Given the description of an element on the screen output the (x, y) to click on. 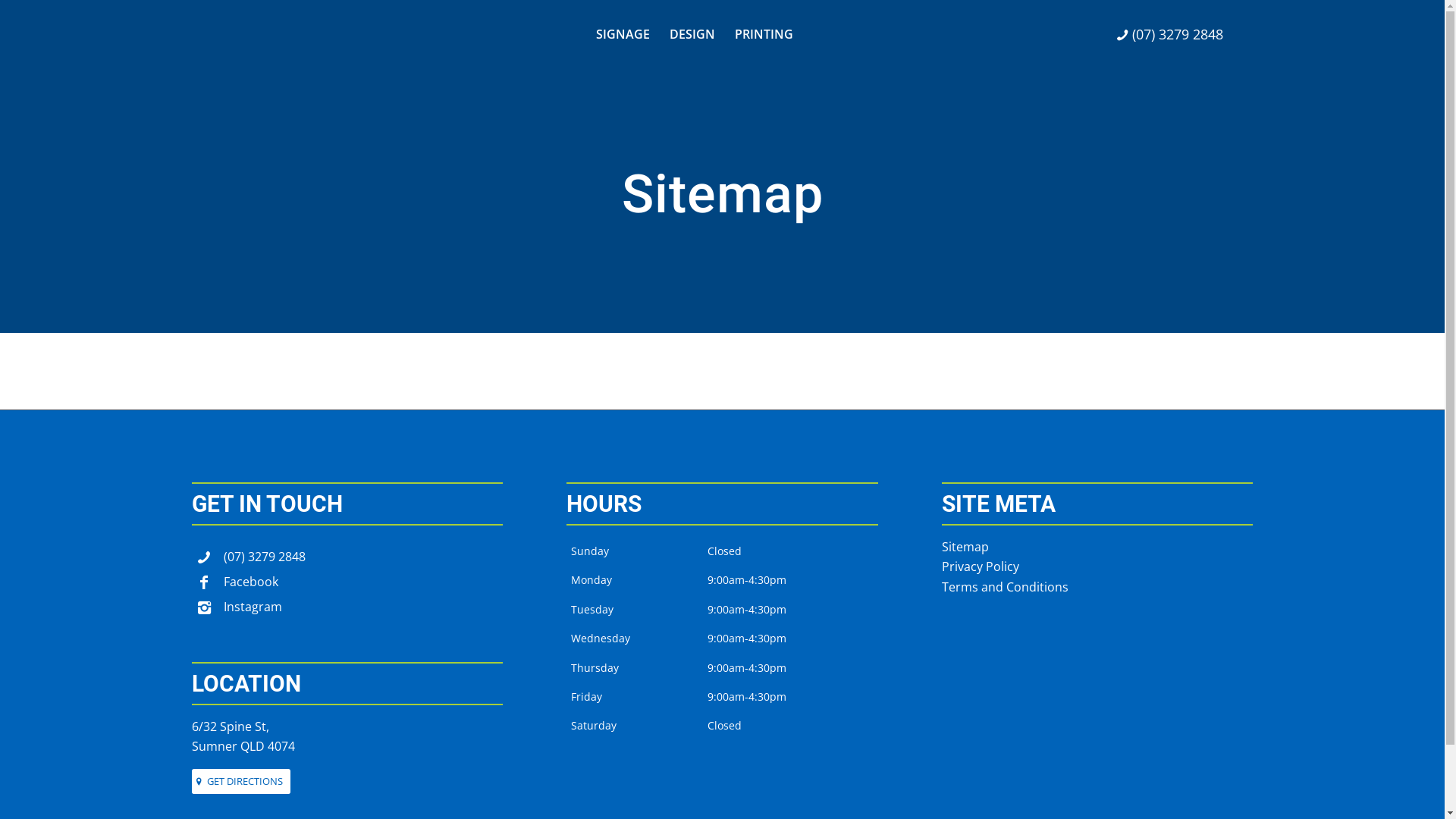
Facebook Element type: hover (203, 584)
Instagram Element type: hover (203, 609)
DESIGN Element type: text (691, 33)
GET DIRECTIONS Element type: text (240, 780)
6/32 Spine St,
Sumner QLD 4074 Element type: text (242, 736)
Privacy Policy Element type: text (980, 566)
Sitemap Element type: text (964, 546)
(07) 3279 2848 Element type: text (263, 556)
(07) 3279 2848 Element type: hover (203, 559)
(07) 3279 2848 Element type: text (1170, 34)
Facebook Element type: text (249, 581)
Terms and Conditions Element type: text (1004, 586)
PRINTING Element type: text (763, 33)
SIGNAGE Element type: text (621, 33)
Instagram Element type: text (251, 606)
